Given the description of an element on the screen output the (x, y) to click on. 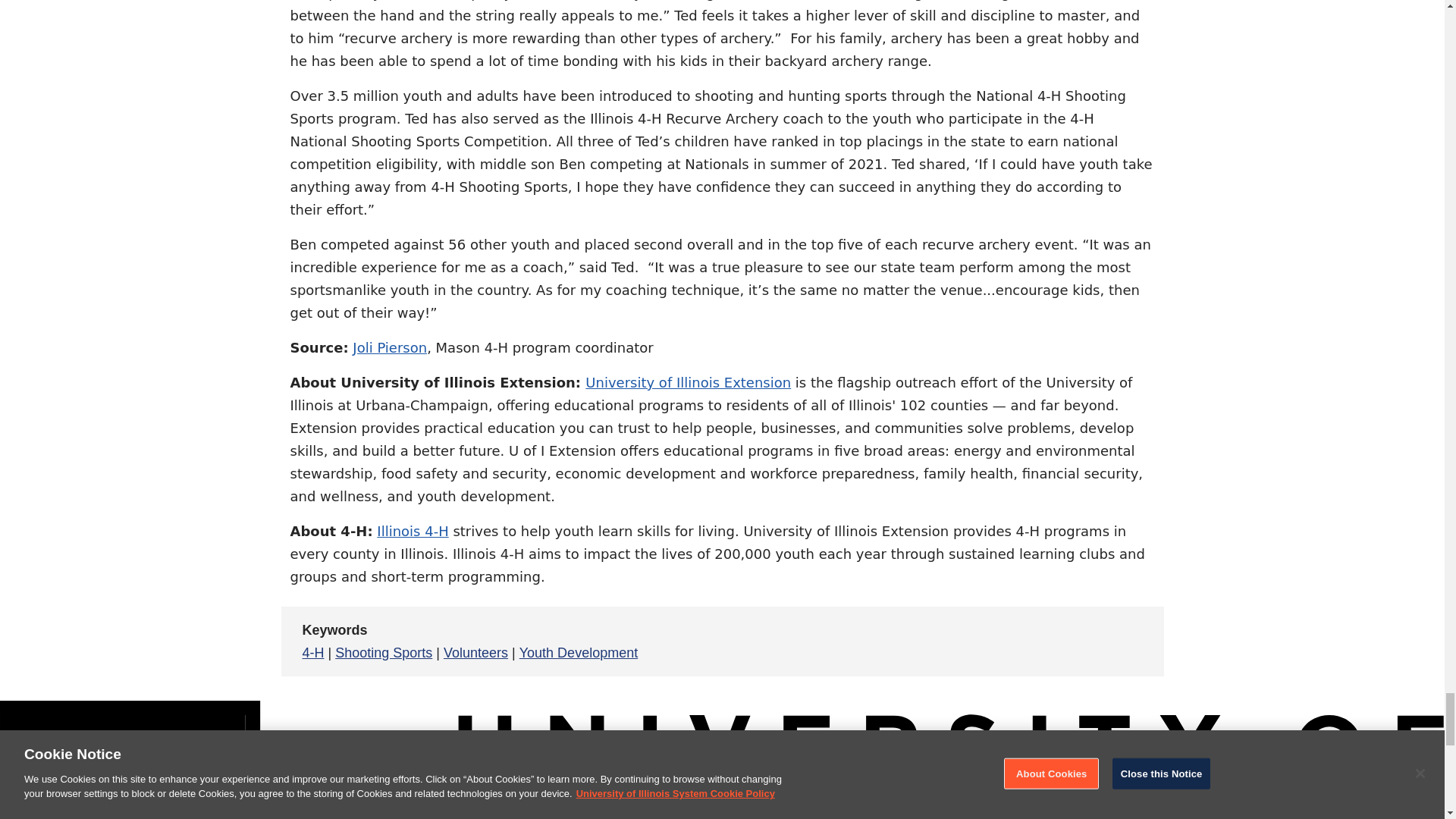
Share to Linkedin (1063, 641)
Share to X (1026, 641)
Share to Email (1099, 641)
Share to Facebook (990, 641)
